Given the description of an element on the screen output the (x, y) to click on. 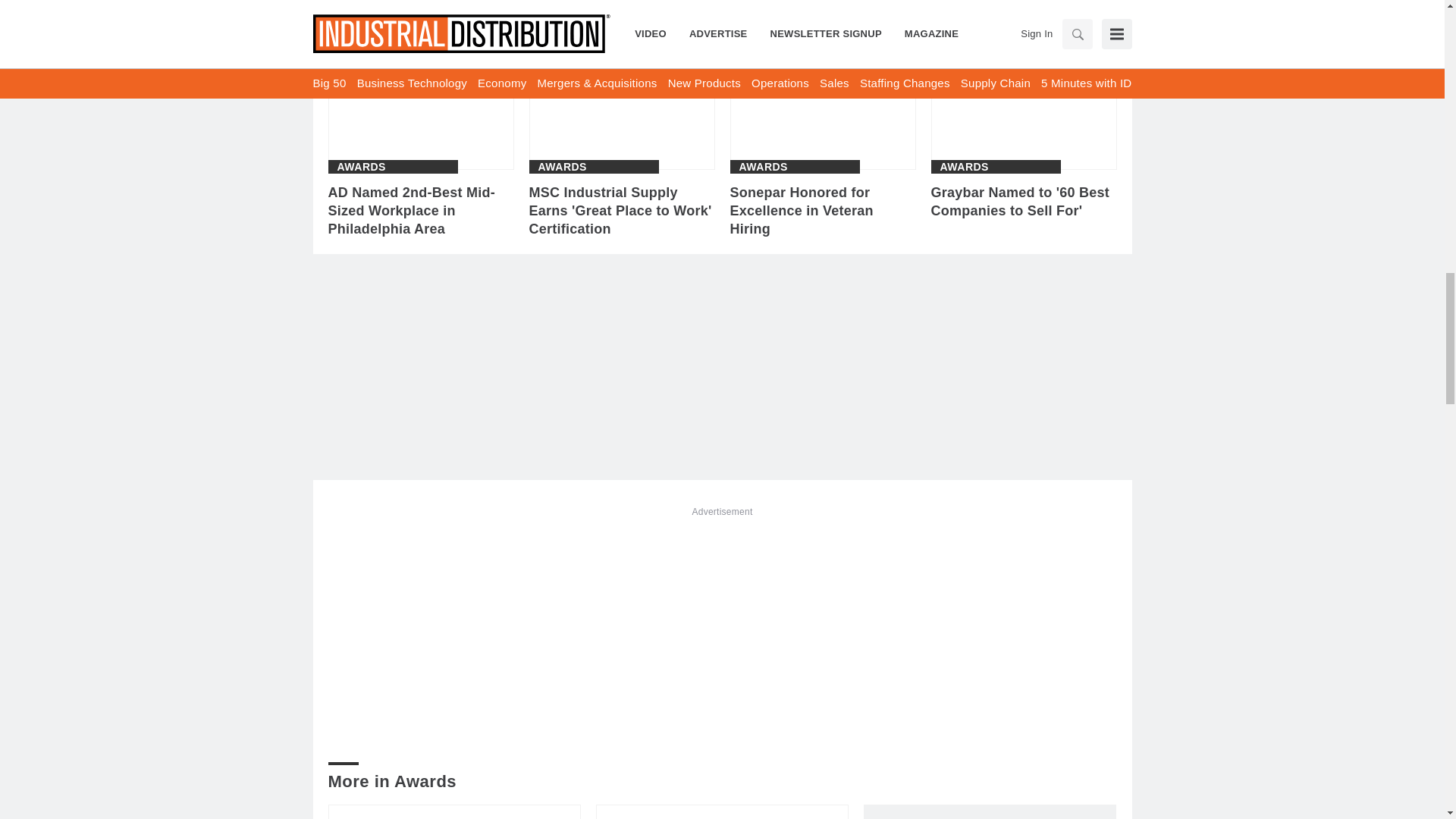
Awards (360, 166)
Awards (562, 166)
Awards (762, 166)
